Given the description of an element on the screen output the (x, y) to click on. 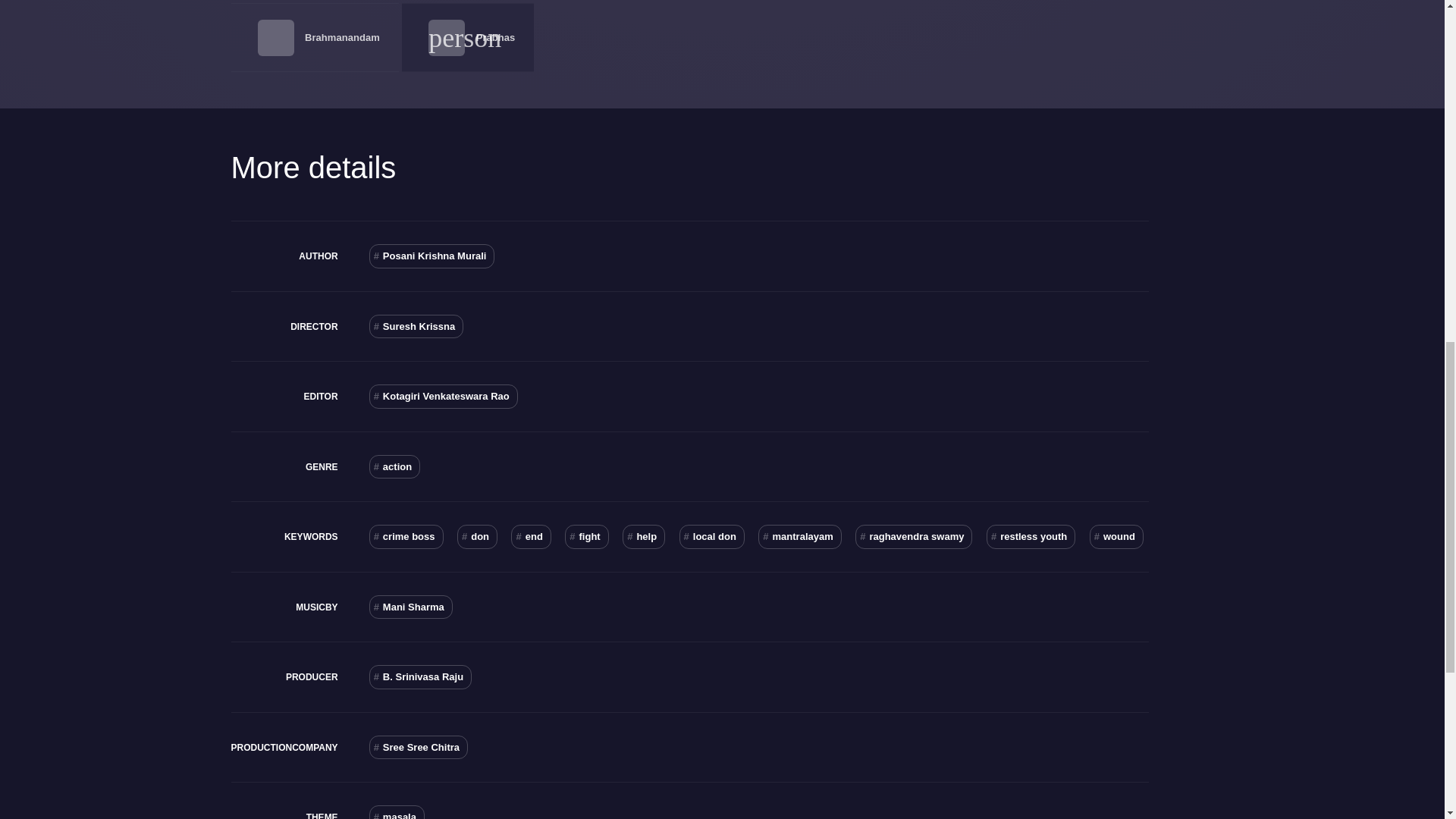
mantralayam (799, 536)
crime boss (406, 536)
don (477, 536)
restless youth (1031, 536)
Prabhas (495, 37)
fight (586, 536)
help (644, 536)
wound (1115, 536)
Mani Sharma (410, 607)
B. Srinivasa Raju (420, 677)
